Given the description of an element on the screen output the (x, y) to click on. 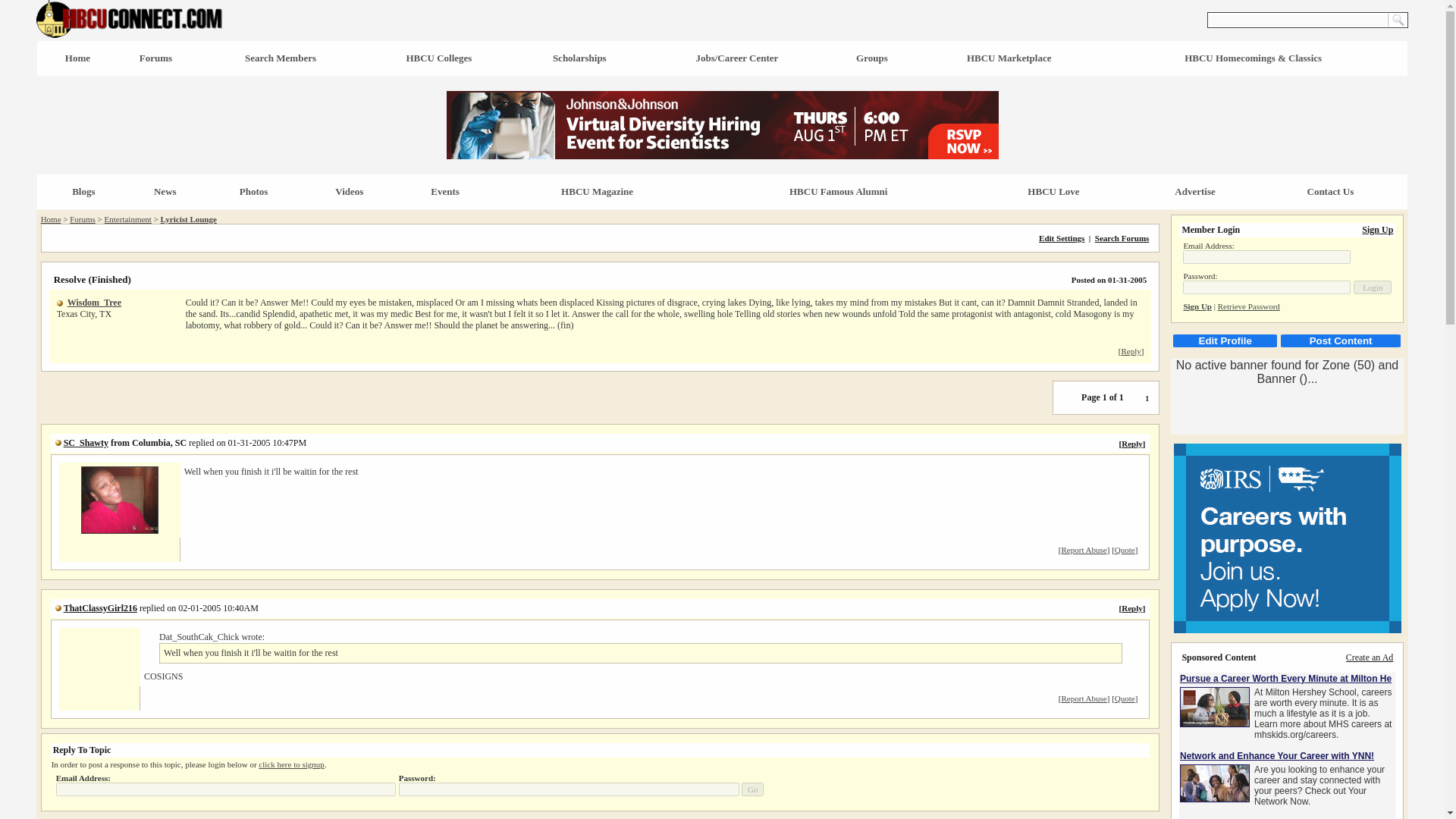
Advertise (1194, 191)
HBCU Famous Alumni (837, 191)
click here to signup (291, 764)
This member is offline... (59, 303)
HBCU Magazine (596, 191)
Photos (253, 191)
Search Members (279, 57)
This member is offline... (58, 442)
Login (1372, 287)
ThatClassyGirl216 (100, 607)
Edit your forum settings (1061, 237)
Home (50, 218)
HBCU Love (1052, 191)
Advanced forum search (1122, 237)
Scholarships (580, 57)
